Given the description of an element on the screen output the (x, y) to click on. 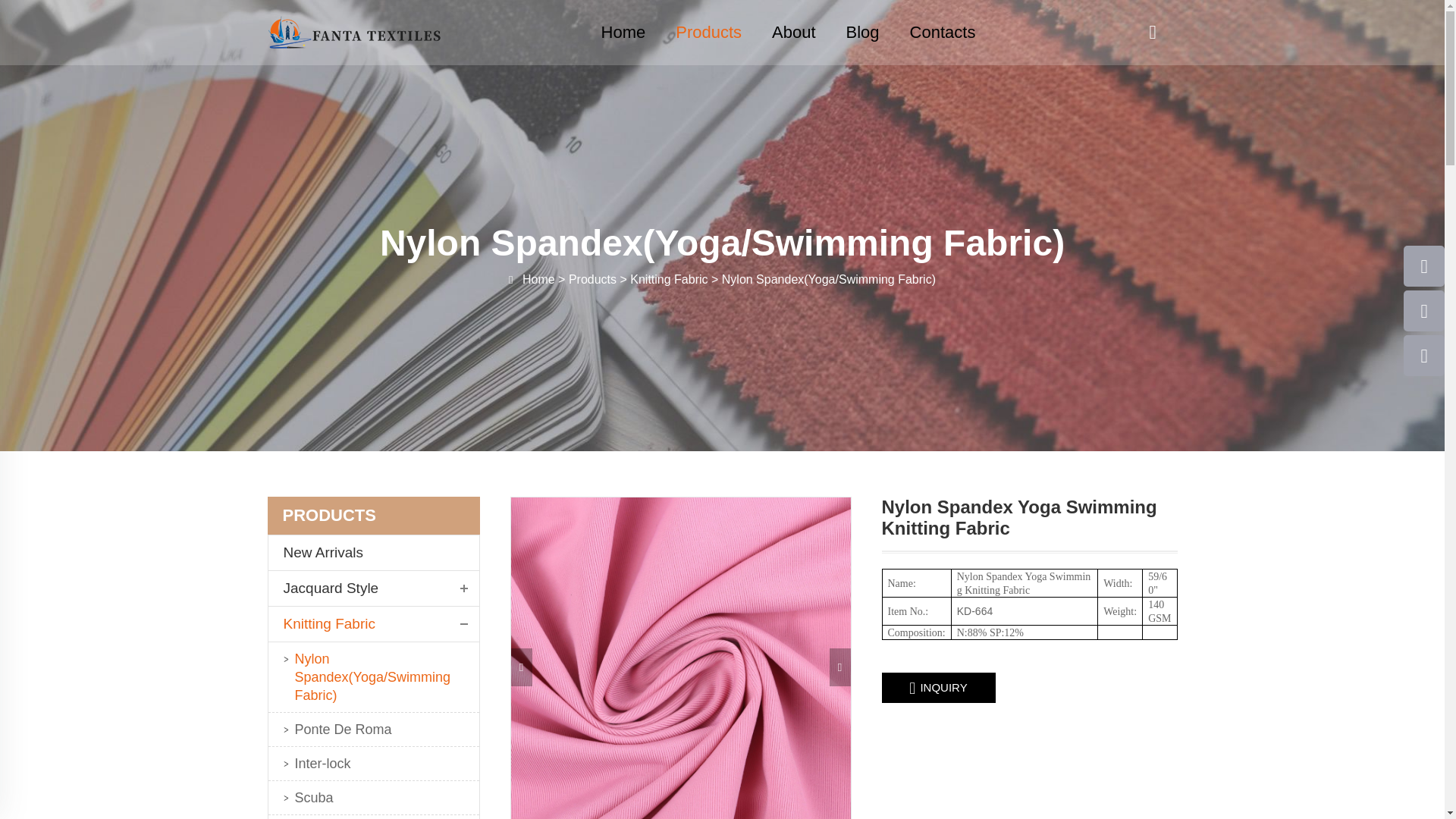
Home (622, 32)
Products (708, 32)
